Given the description of an element on the screen output the (x, y) to click on. 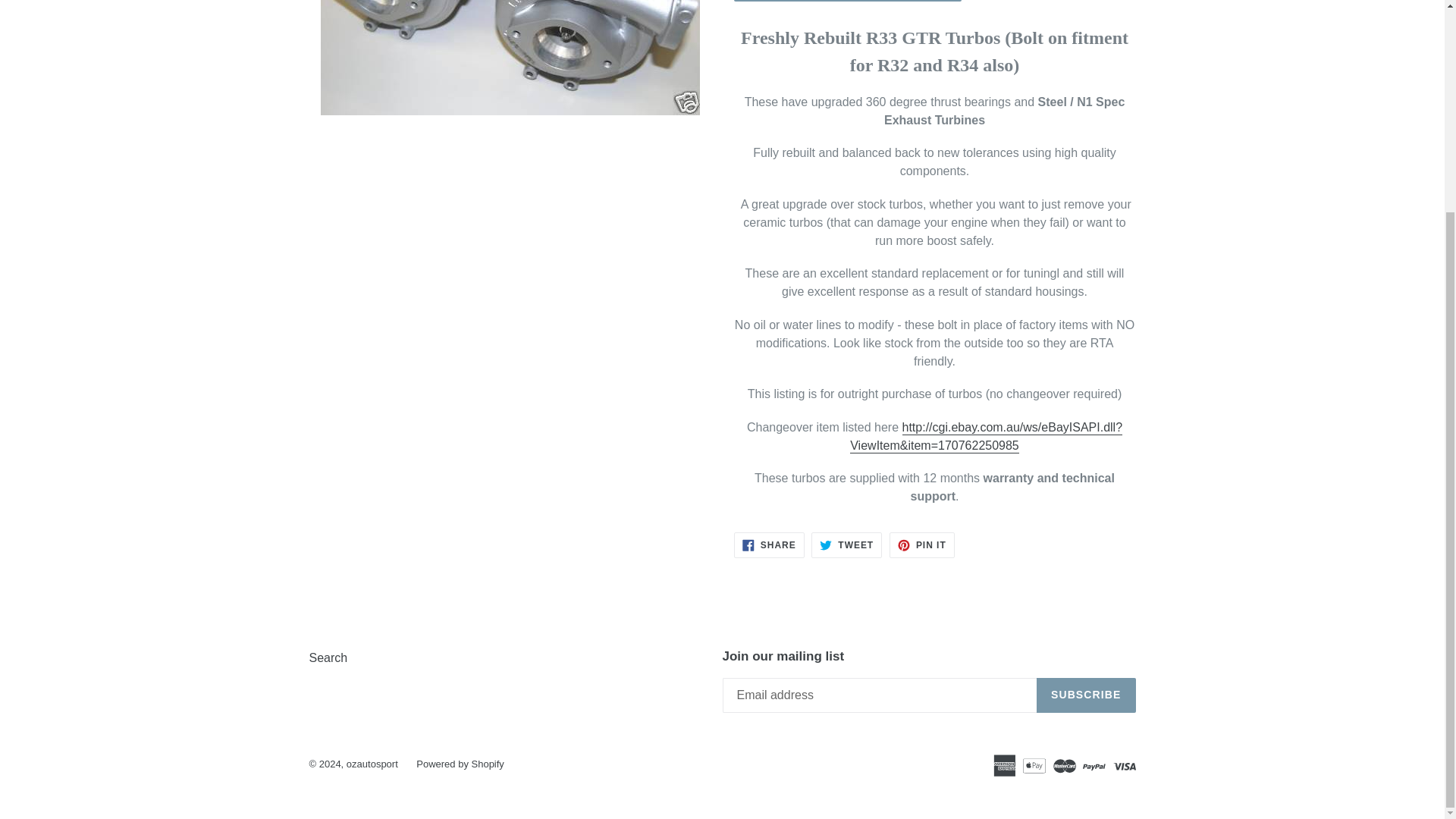
Share on Facebook (769, 544)
Pin on Pinterest (922, 544)
Tweet on Twitter (846, 544)
